Given the description of an element on the screen output the (x, y) to click on. 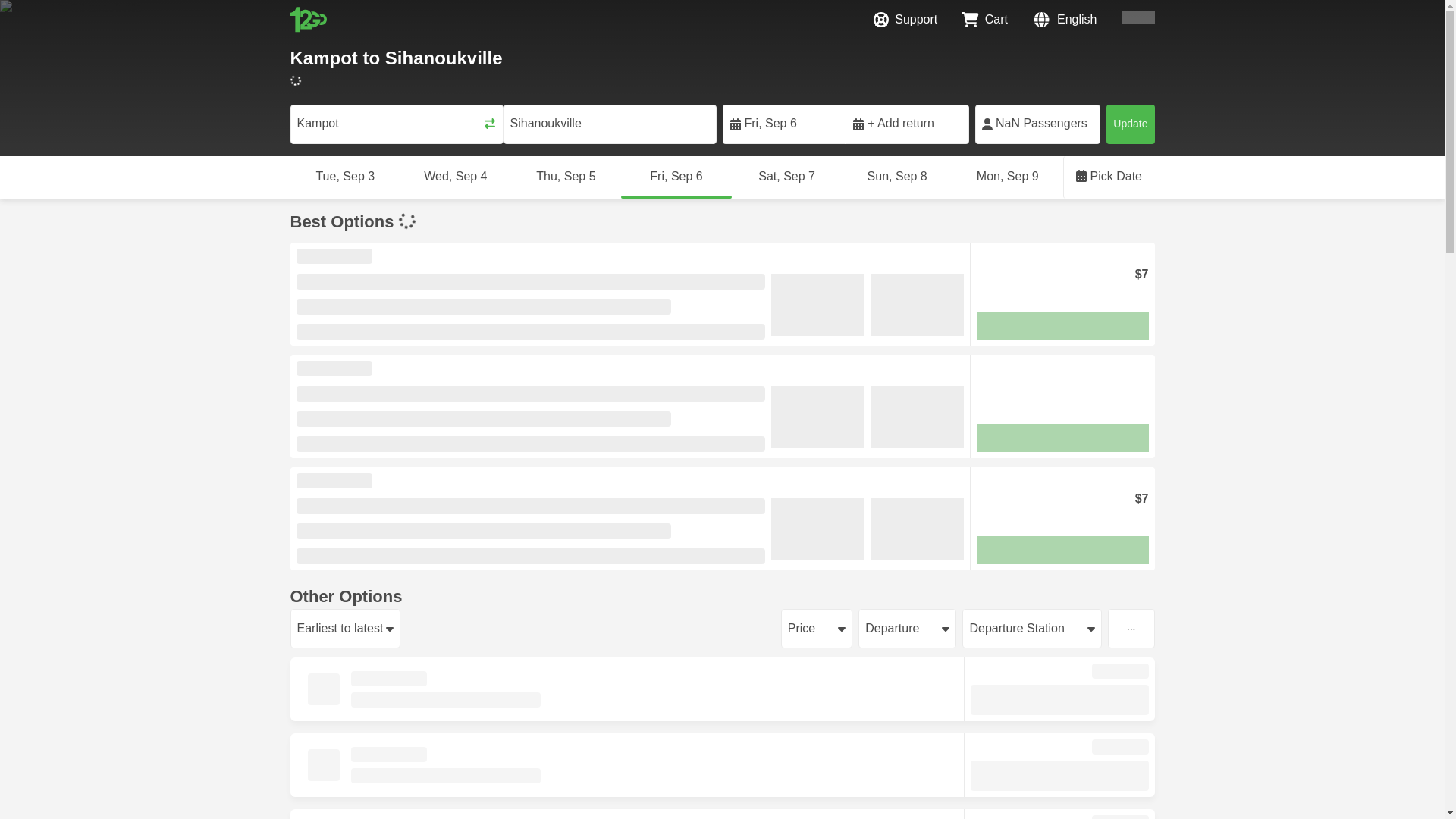
Tue, Sep 3 (344, 177)
Cart (983, 19)
Mon, Sep 9 (1007, 177)
Sat, Sep 7 (787, 177)
Fri, Sep 6 (676, 177)
Sun, Sep 8 (896, 177)
Support (905, 19)
Pick Date (1108, 177)
Wed, Sep 4 (455, 177)
Thu, Sep 5 (566, 177)
